Given the description of an element on the screen output the (x, y) to click on. 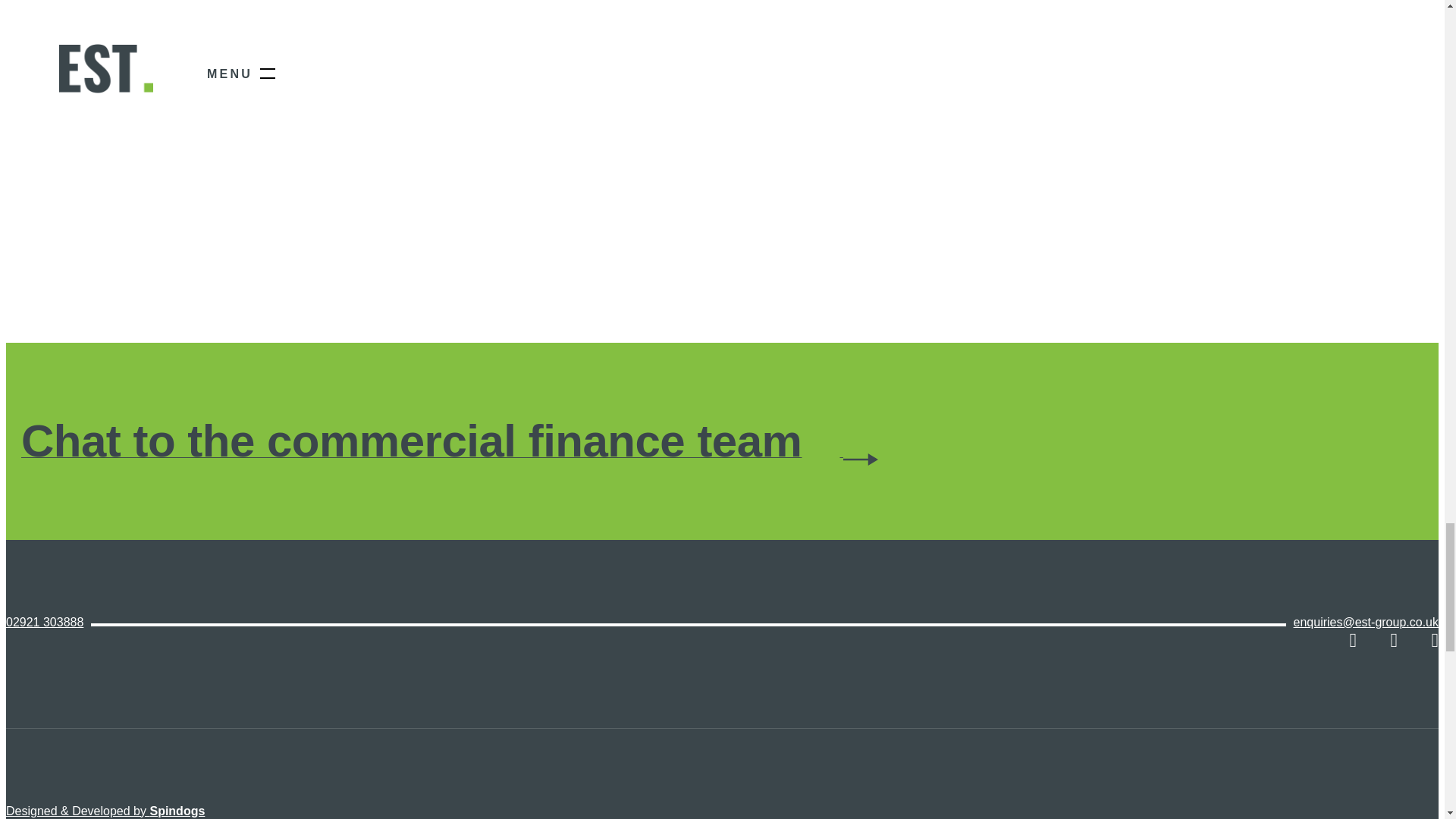
The Digest (819, 818)
02921 303888 (43, 622)
Get In Touch (737, 818)
Services (660, 818)
